Given the description of an element on the screen output the (x, y) to click on. 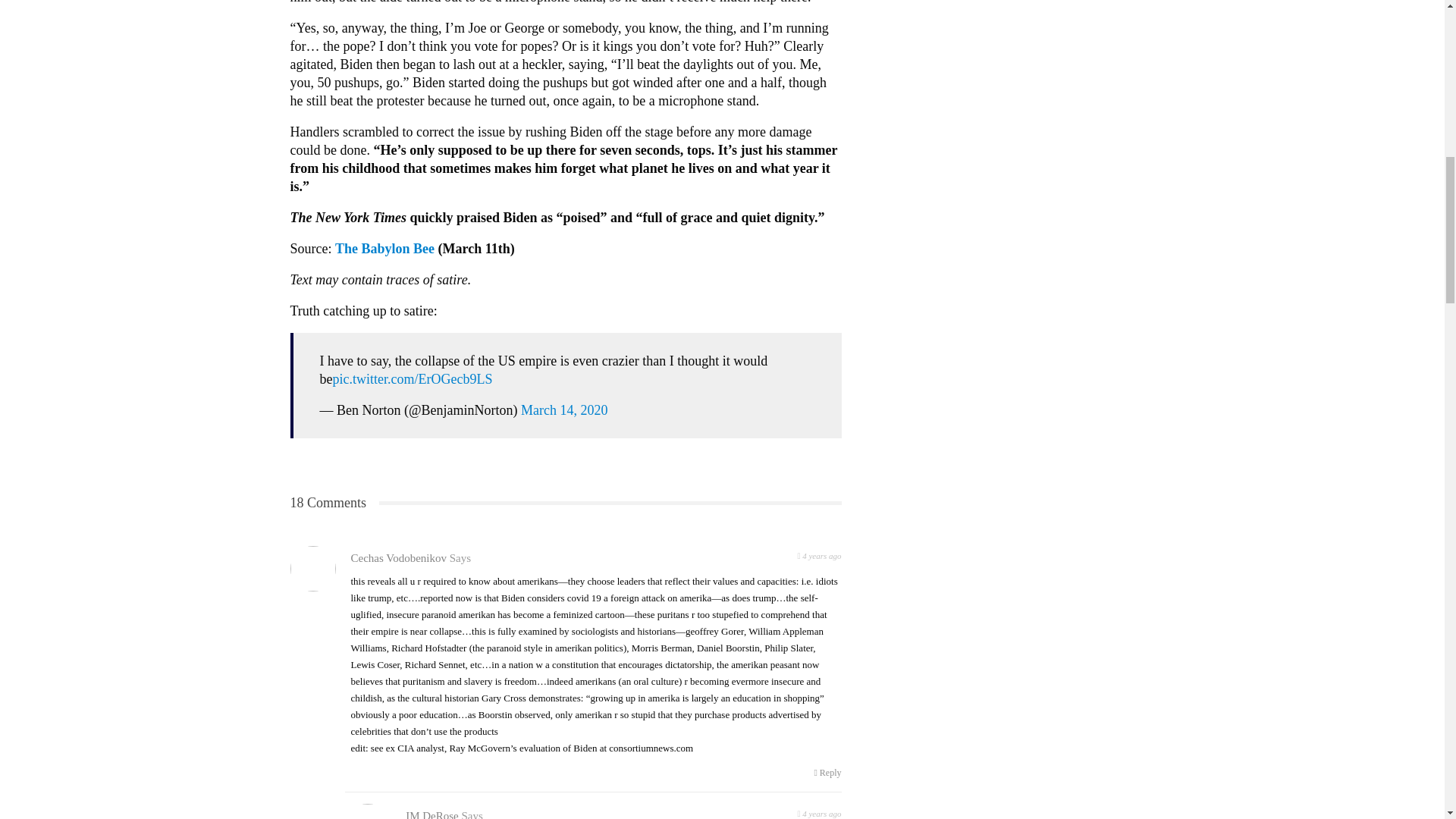
The Babylon Bee (383, 248)
Reply (827, 772)
Saturday, December 26, 2020, 2:05 pm (818, 811)
March 14, 2020 (564, 409)
Saturday, December 26, 2020, 2:05 pm (818, 554)
